Given the description of an element on the screen output the (x, y) to click on. 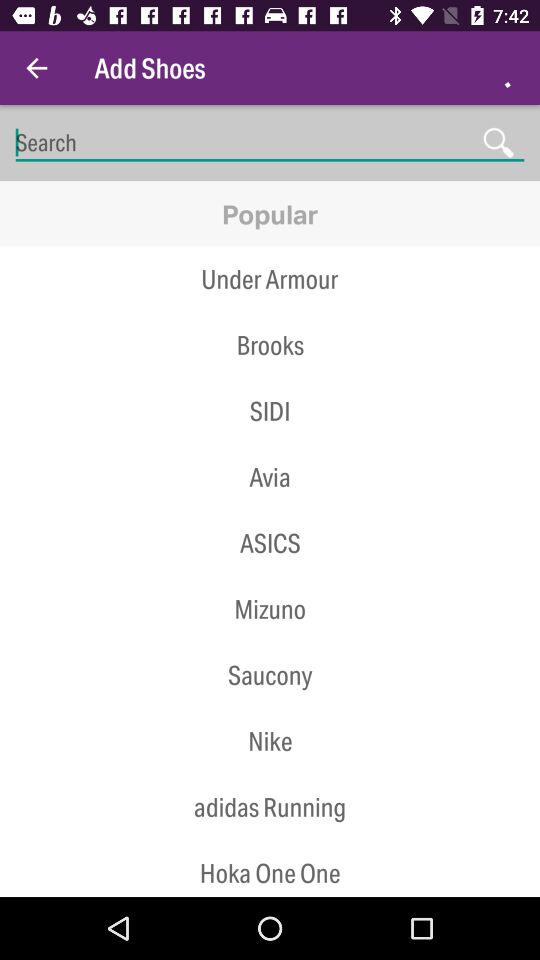
turn on the item next to add shoes item (36, 68)
